Given the description of an element on the screen output the (x, y) to click on. 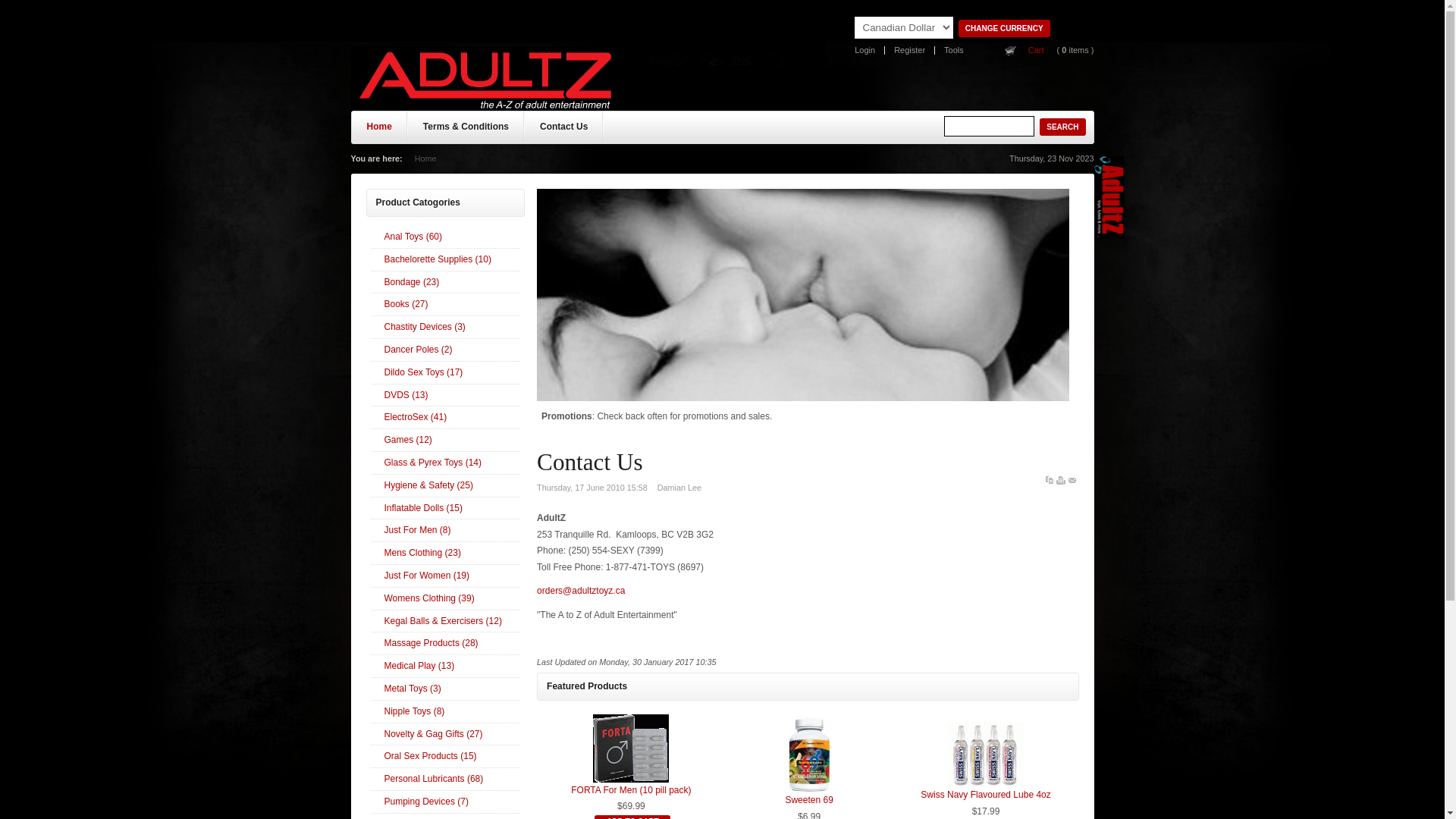
FORTA For Men (10 pill pack) Element type: hover (630, 779)
Oral Sex Products (15) Element type: text (445, 756)
Register Element type: text (909, 50)
Search Element type: text (1062, 126)
Login Element type: text (864, 50)
Swiss Navy Flavoured Lube 4oz Element type: hover (985, 783)
Inflatable Dolls (15) Element type: text (445, 508)
Glass & Pyrex Toys (14) Element type: text (445, 462)
Womens Clothing (39) Element type: text (445, 598)
Personal Lubricants (68) Element type: text (445, 779)
Just For Men (8) Element type: text (445, 530)
Massage Products (28) Element type: text (445, 643)
Anal Toys (60) Element type: text (445, 236)
Contact Us Element type: text (563, 130)
Sweeten 69 Element type: text (808, 799)
Metal Toys (3) Element type: text (445, 688)
Swiss Navy Flavoured Lube 4oz Element type: text (985, 794)
ElectroSex (41) Element type: text (445, 417)
Mens Clothing (23) Element type: text (445, 553)
orders@adultztoyz.ca Element type: text (580, 590)
Dildo Sex Toys (17) Element type: text (445, 372)
Games (12) Element type: text (445, 440)
Medical Play (13) Element type: text (445, 666)
Cart Element type: text (1036, 50)
Dancer Poles (2) Element type: text (445, 349)
Terms & Conditions Element type: text (465, 130)
DVDS (13) Element type: text (445, 395)
Bondage (23) Element type: text (445, 282)
Pumping Devices (7) Element type: text (445, 801)
Search Element type: hover (989, 126)
FORTA For Men (10 pill pack) Element type: text (630, 789)
Hygiene & Safety (25) Element type: text (445, 485)
Login Element type: text (37, 186)
Home Element type: text (379, 130)
Nipple Toys (8) Element type: text (445, 711)
Change Currency Element type: text (1004, 28)
Books (27) Element type: text (445, 304)
Novelty & Gag Gifts (27) Element type: text (445, 734)
Bachelorette Supplies (10) Element type: text (445, 259)
Just For Women (19) Element type: text (445, 575)
Chastity Devices (3) Element type: text (445, 327)
Kegal Balls & Exercisers (12) Element type: text (445, 621)
Sweeten 69 Element type: hover (809, 789)
Tools Element type: text (953, 50)
